Given the description of an element on the screen output the (x, y) to click on. 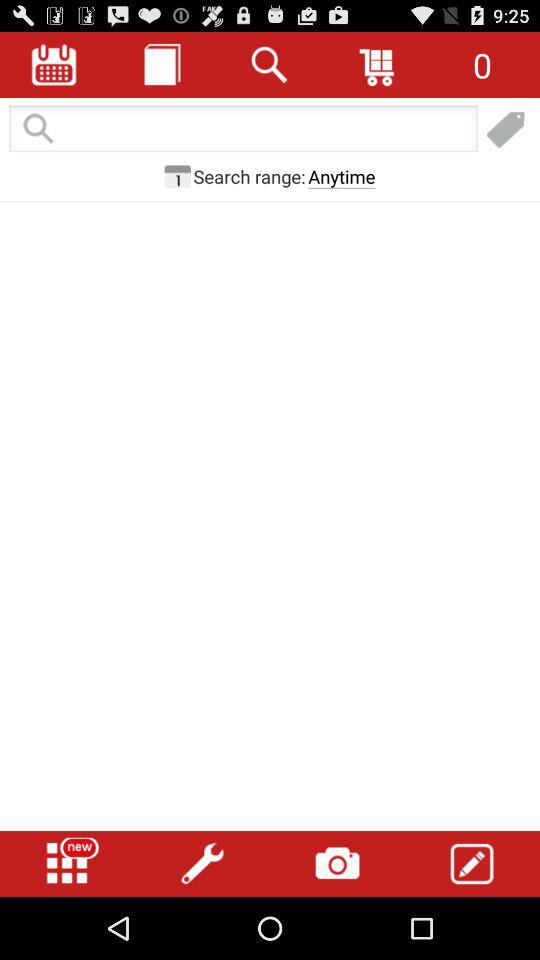
click app next to 0 (377, 64)
